Given the description of an element on the screen output the (x, y) to click on. 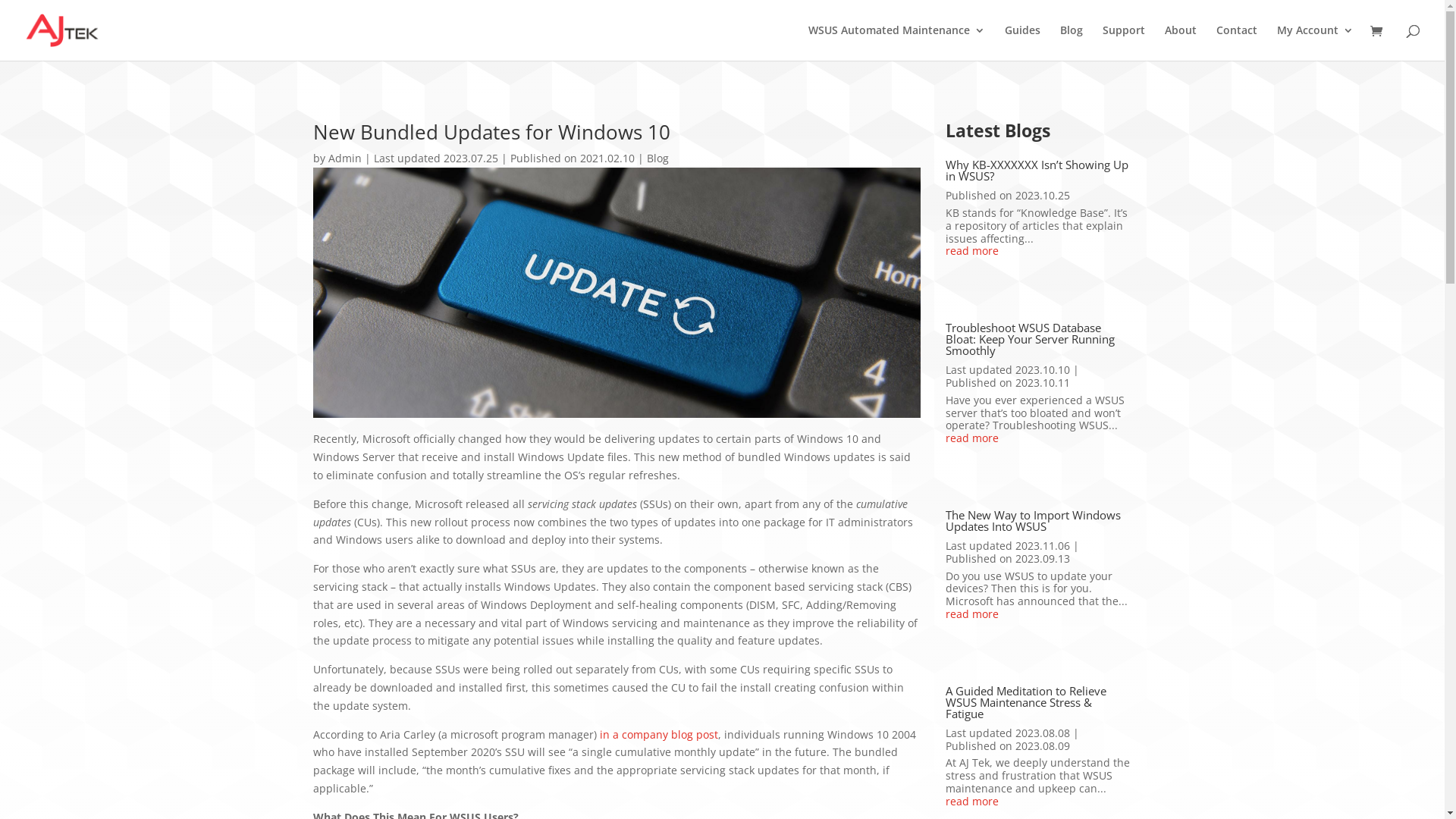
read more Element type: text (1038, 614)
The New Way to Import Windows Updates Into WSUS Element type: text (1032, 520)
My Account Element type: text (1315, 42)
word-image Element type: hover (616, 292)
Support Element type: text (1123, 42)
Blog Element type: text (1071, 42)
WSUS Automated Maintenance Element type: text (896, 42)
Guides Element type: text (1022, 42)
About Element type: text (1180, 42)
in a company blog post Element type: text (658, 734)
Contact Element type: text (1236, 42)
Blog Element type: text (657, 157)
read more Element type: text (1038, 438)
read more Element type: text (1038, 801)
Admin Element type: text (343, 157)
read more Element type: text (1038, 250)
